Given the description of an element on the screen output the (x, y) to click on. 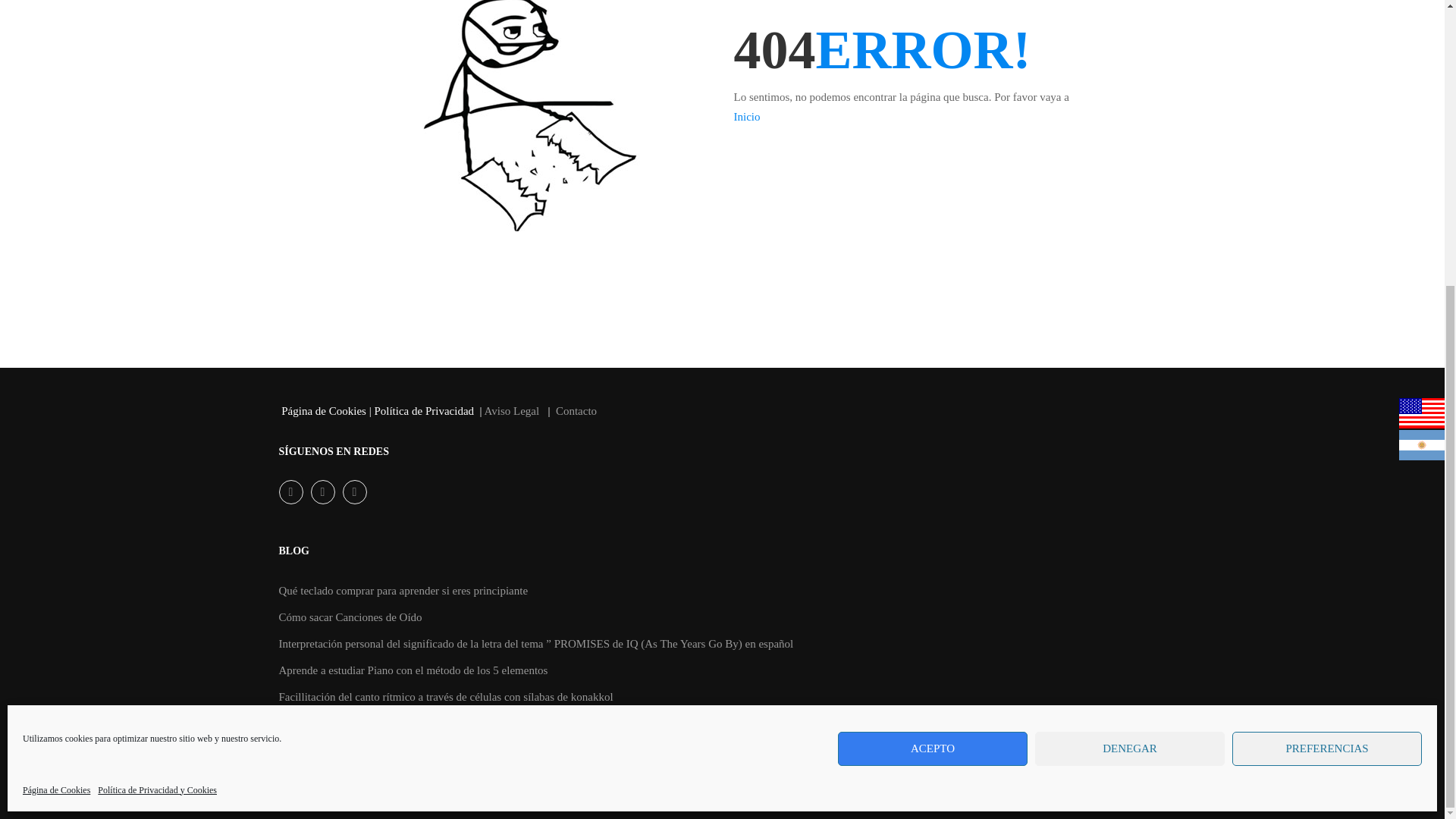
ACEPTO (932, 316)
Contacto (576, 410)
DENEGAR (1129, 316)
Inicio (746, 116)
PREFERENCIAS (1326, 316)
Aviso Legal  (512, 410)
